Given the description of an element on the screen output the (x, y) to click on. 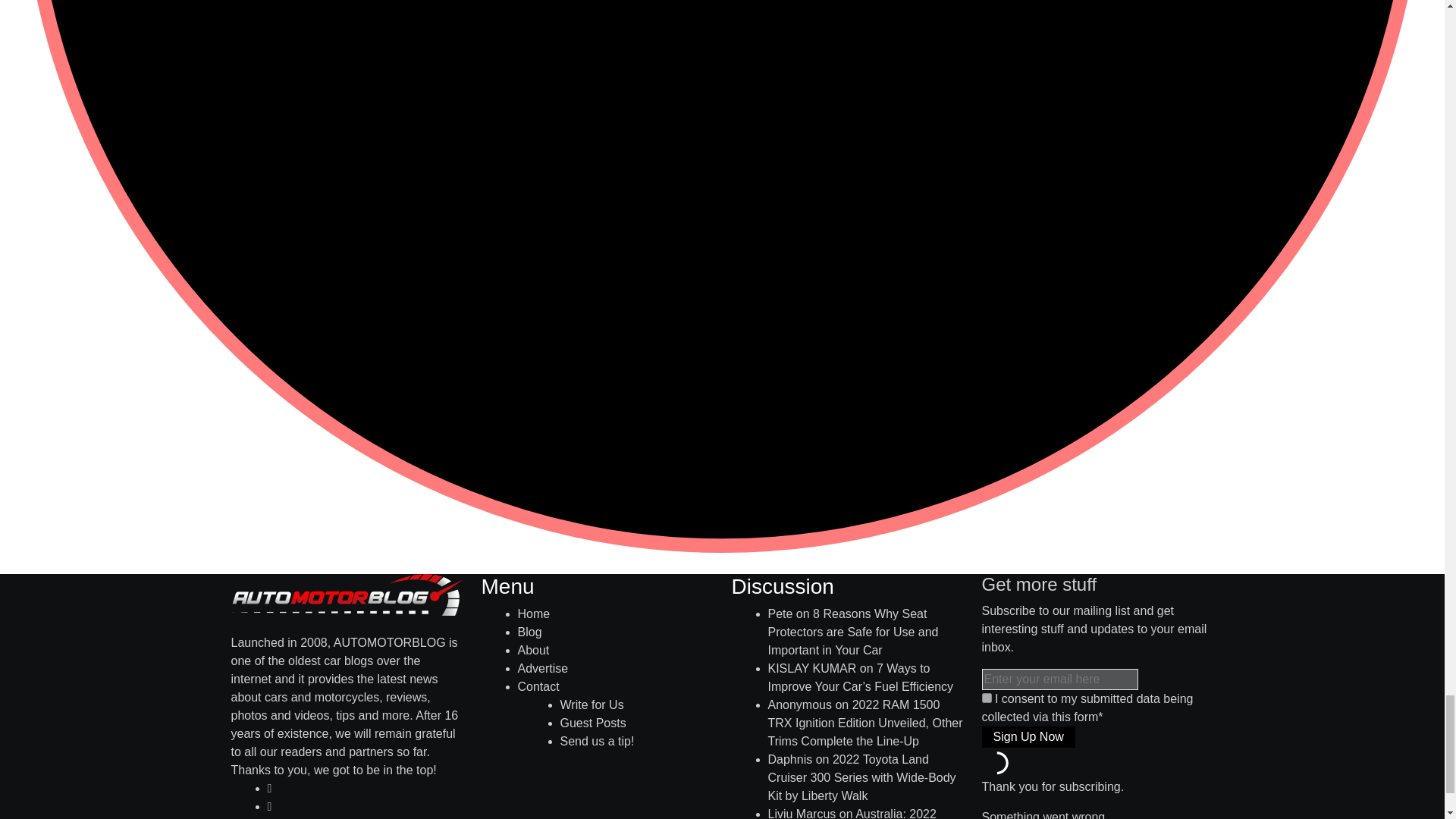
on (986, 697)
Sign Up Now (1027, 736)
